Given the description of an element on the screen output the (x, y) to click on. 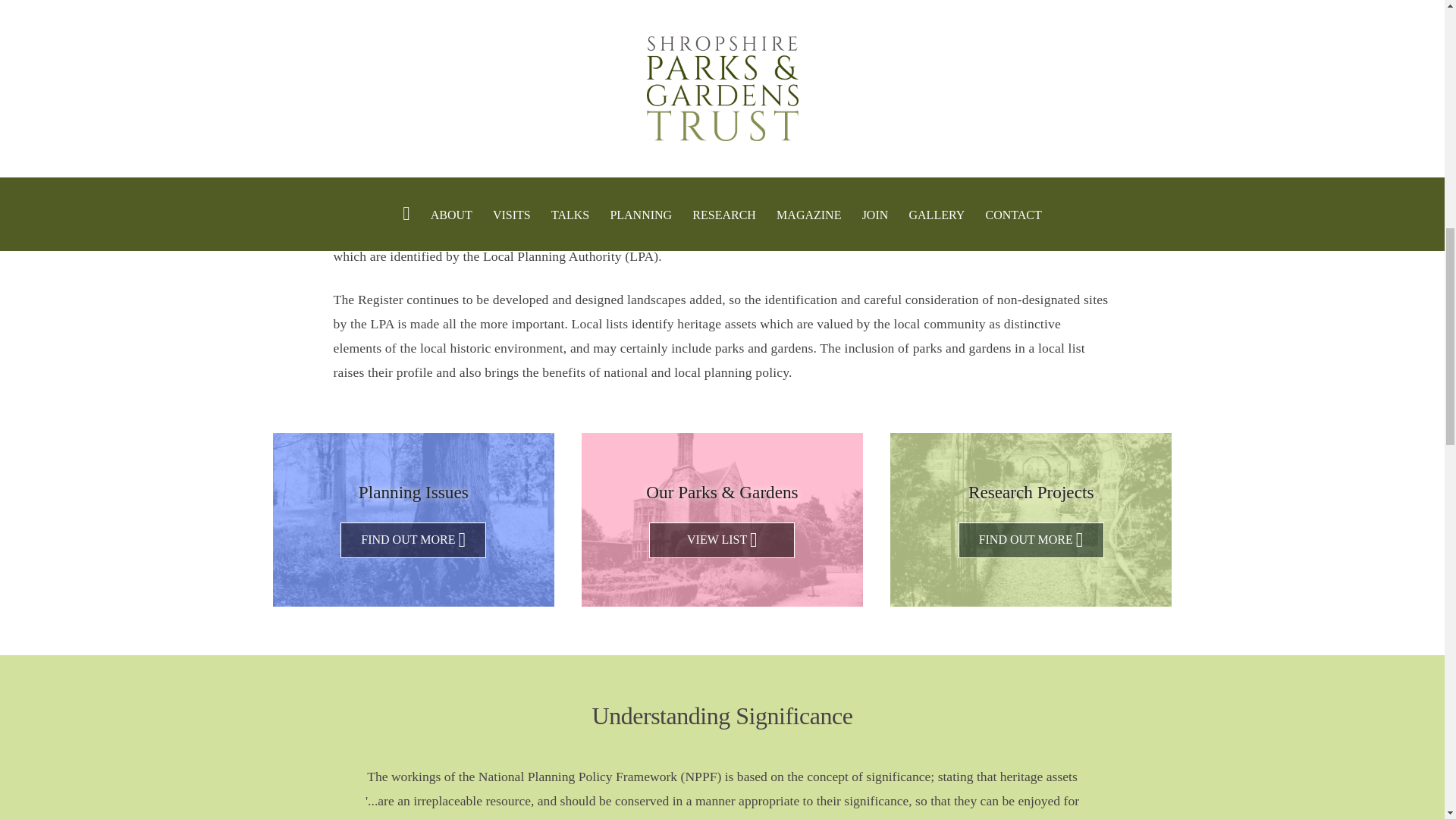
FIND OUT MORE (413, 539)
Millichope Park (954, 65)
FIND OUT MORE (1030, 539)
VIEW LIST (721, 539)
